Given the description of an element on the screen output the (x, y) to click on. 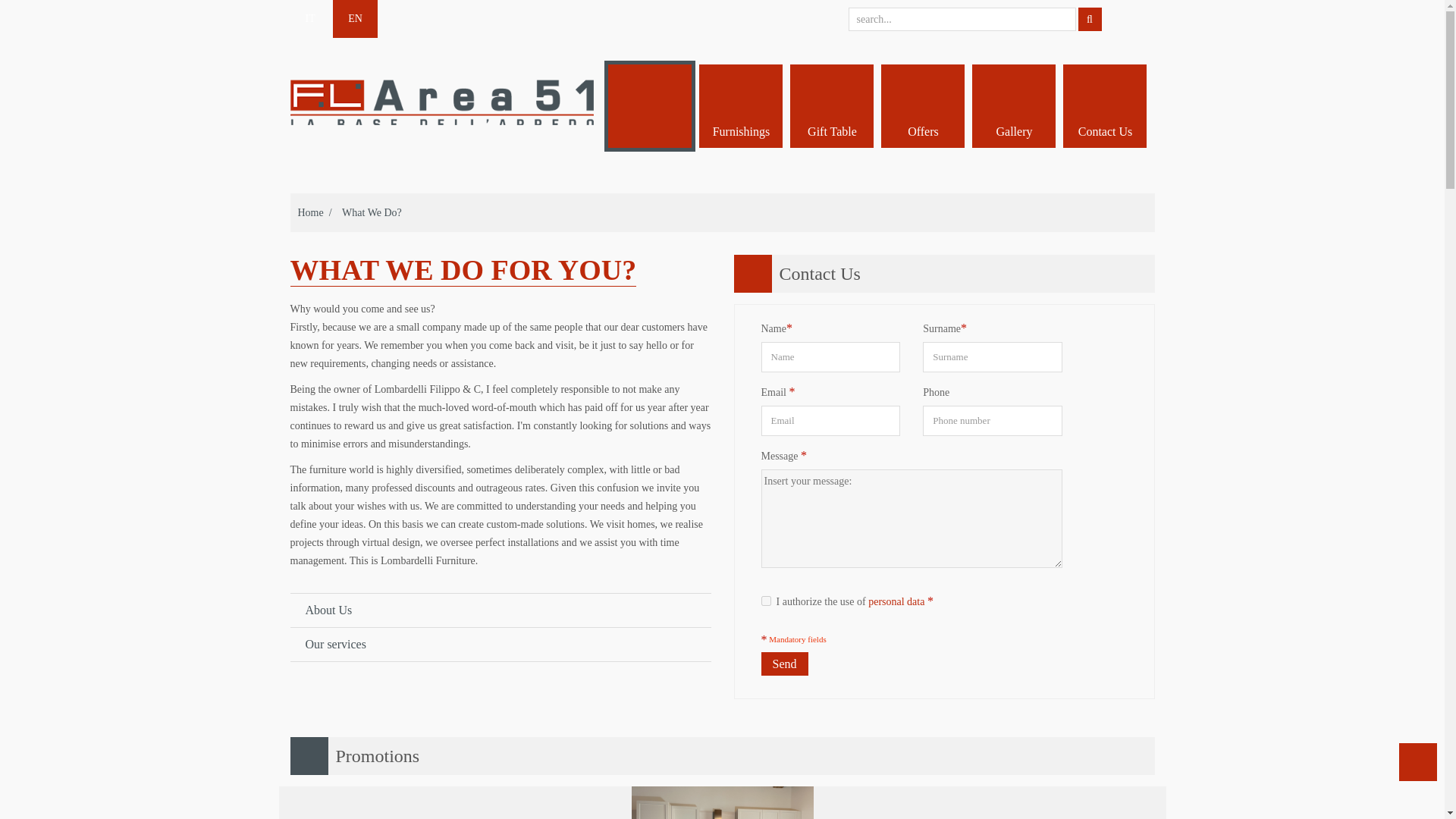
scroll (1418, 761)
Contact Us (1104, 105)
scroll (1418, 761)
Offers (922, 105)
EN (355, 18)
Gallery (1013, 105)
on (766, 601)
facebook (1135, 18)
Furnishings (740, 105)
IT (309, 18)
